Given the description of an element on the screen output the (x, y) to click on. 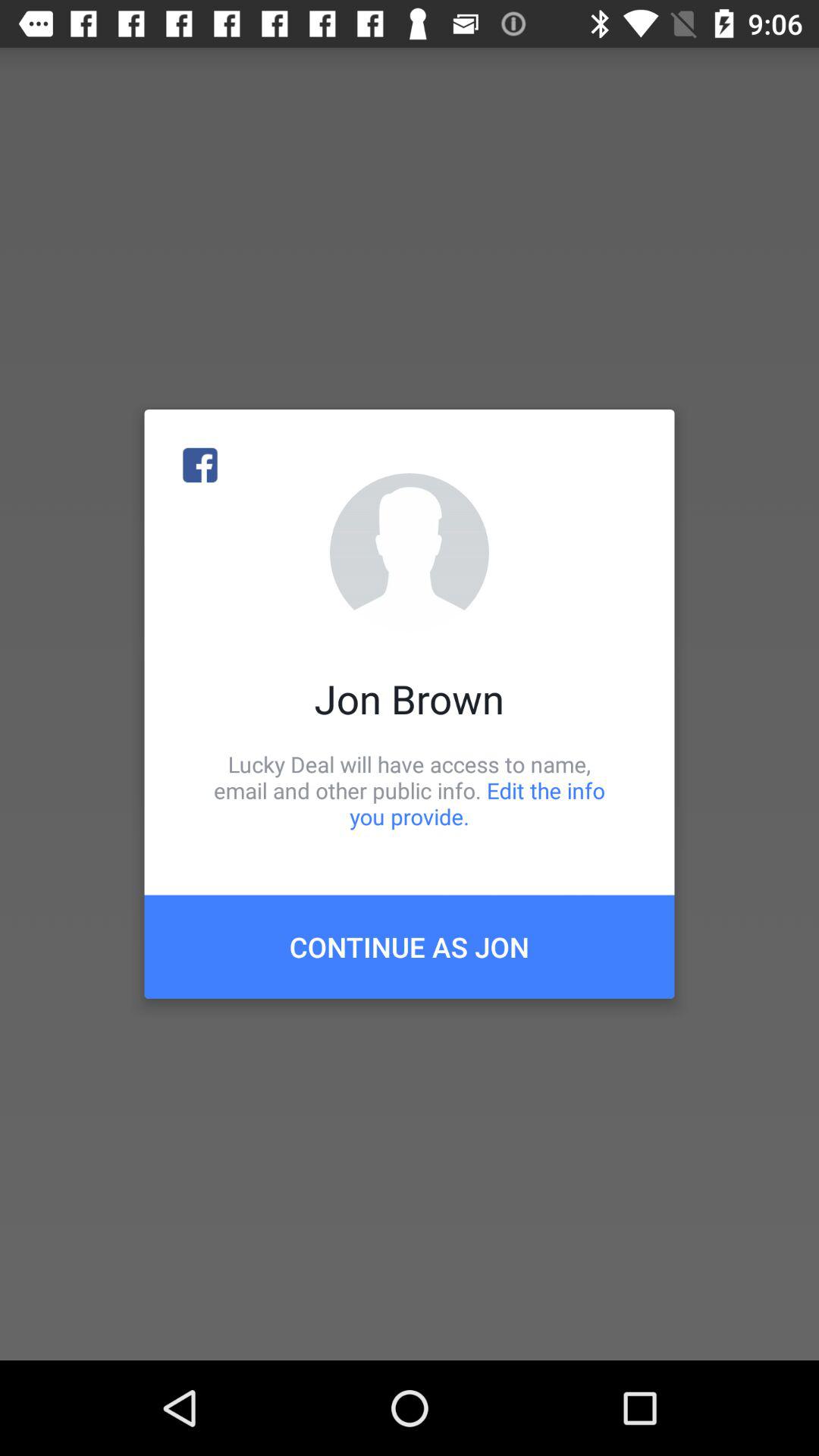
launch item below the lucky deal will icon (409, 946)
